Given the description of an element on the screen output the (x, y) to click on. 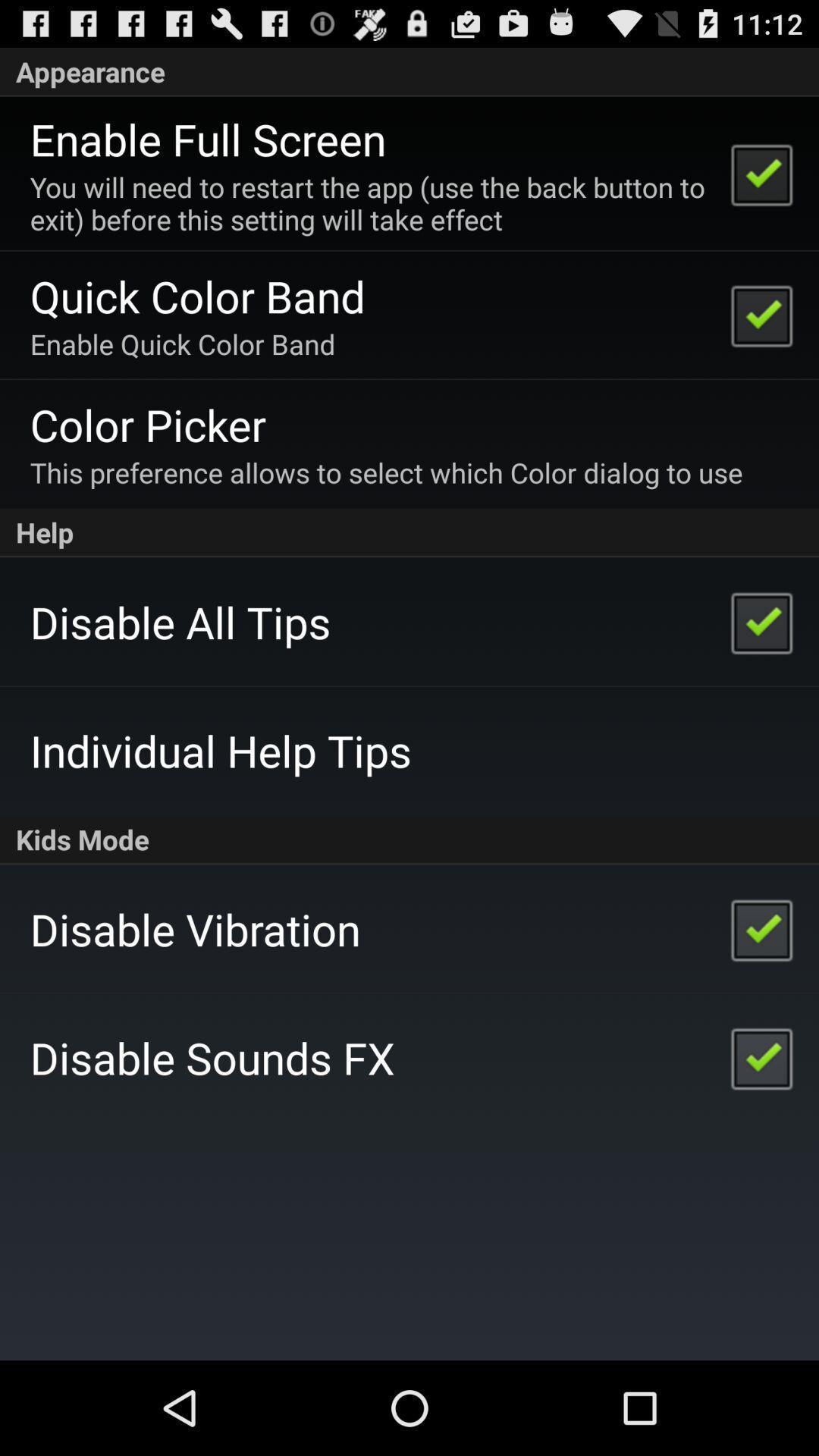
click item above help (386, 472)
